Given the description of an element on the screen output the (x, y) to click on. 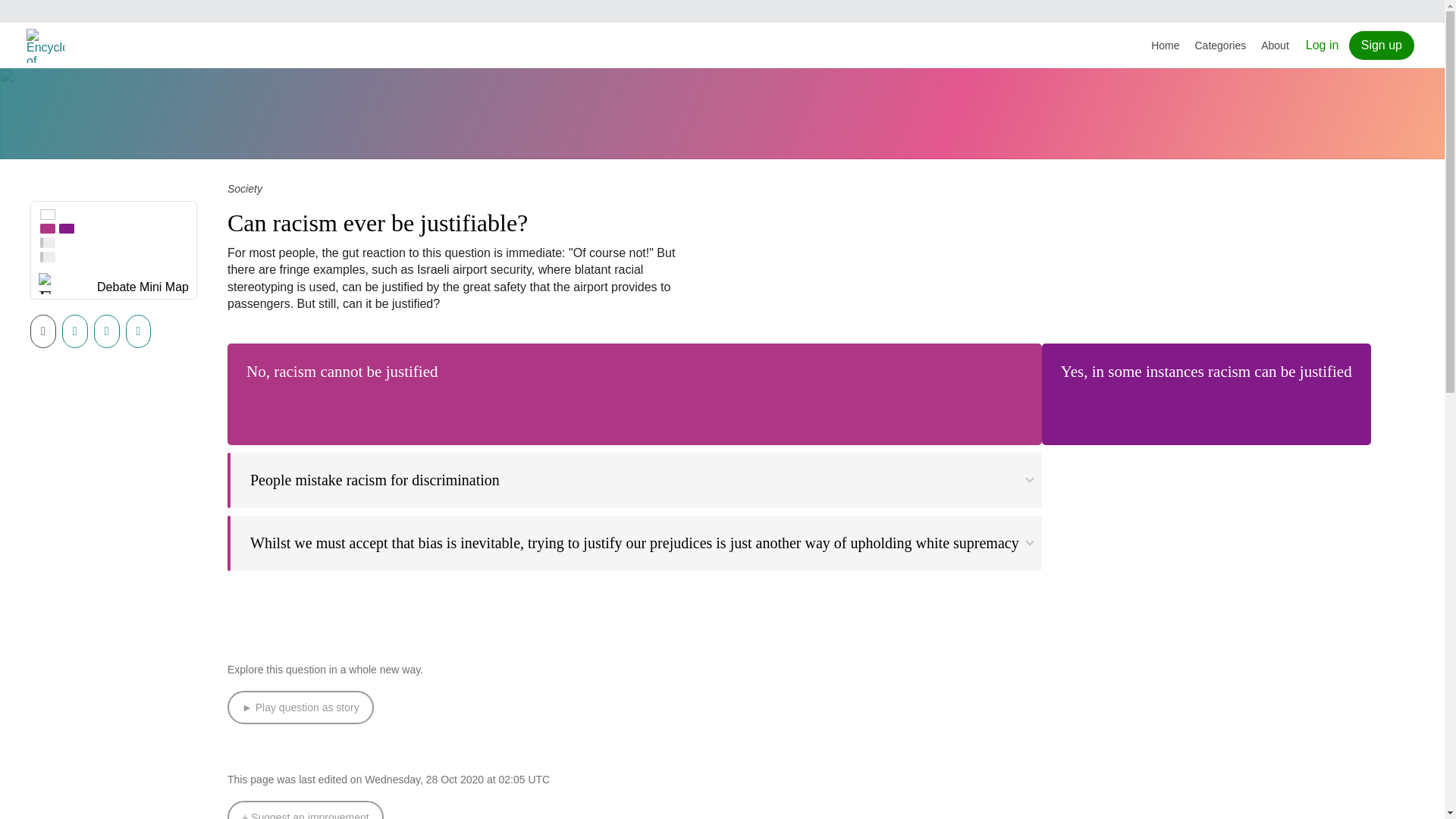
Sign up (1381, 45)
Can racism ever be justifiable? (377, 222)
Sign up (1381, 45)
Go to homepage (47, 45)
Debate Mini Map (143, 289)
Home (1164, 44)
Categories (1220, 44)
Log In (1322, 44)
Society Link (244, 188)
About (1275, 44)
